Given the description of an element on the screen output the (x, y) to click on. 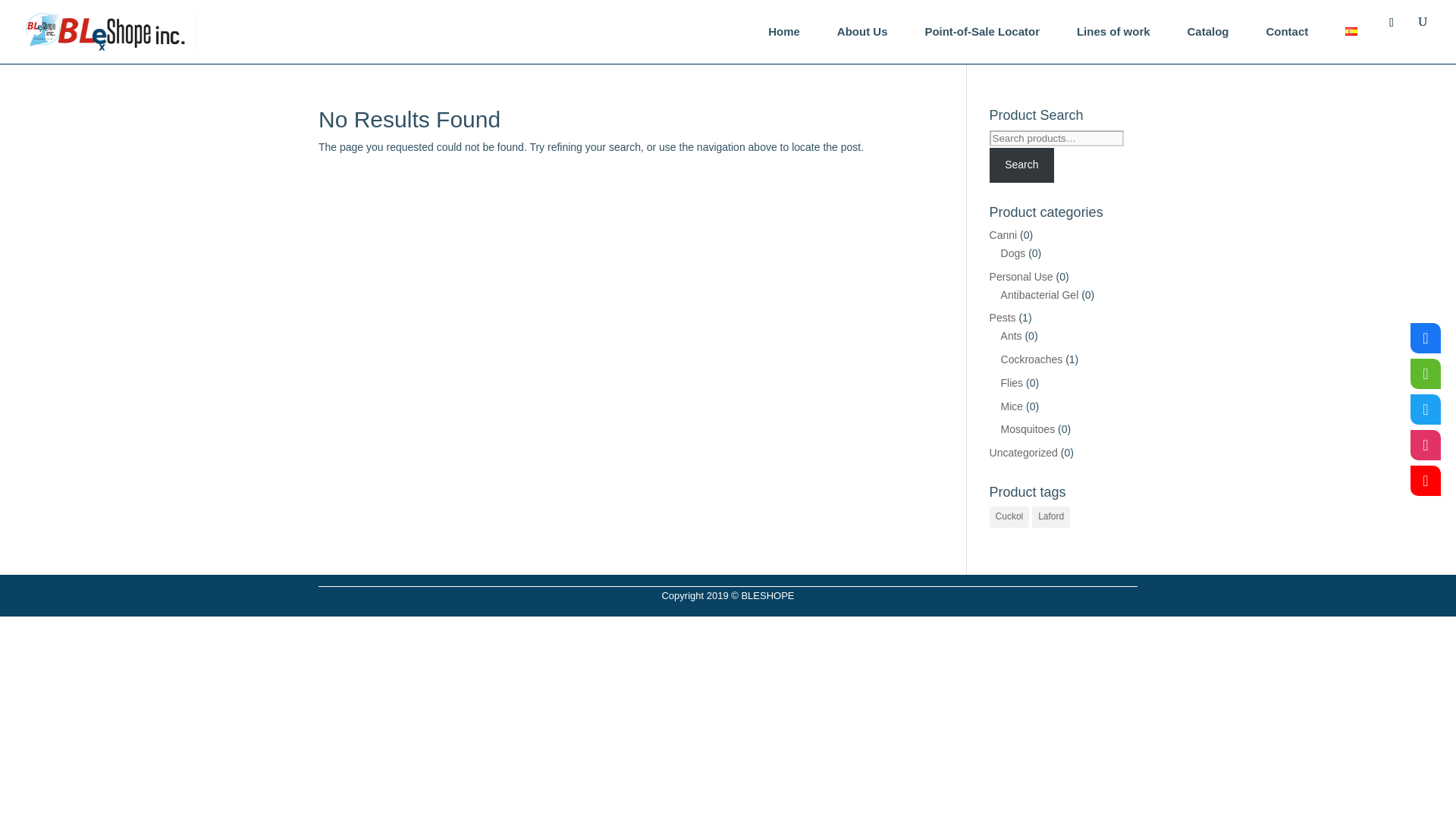
Catalog (1208, 31)
Laford (1051, 516)
Uncategorized (1024, 452)
Flies (1012, 382)
Text Me! (1425, 373)
Mosquitoes (1028, 428)
Antibacterial Gel (1039, 295)
Cockroaches (1031, 358)
Pests (1003, 317)
Search (1022, 165)
